Given the description of an element on the screen output the (x, y) to click on. 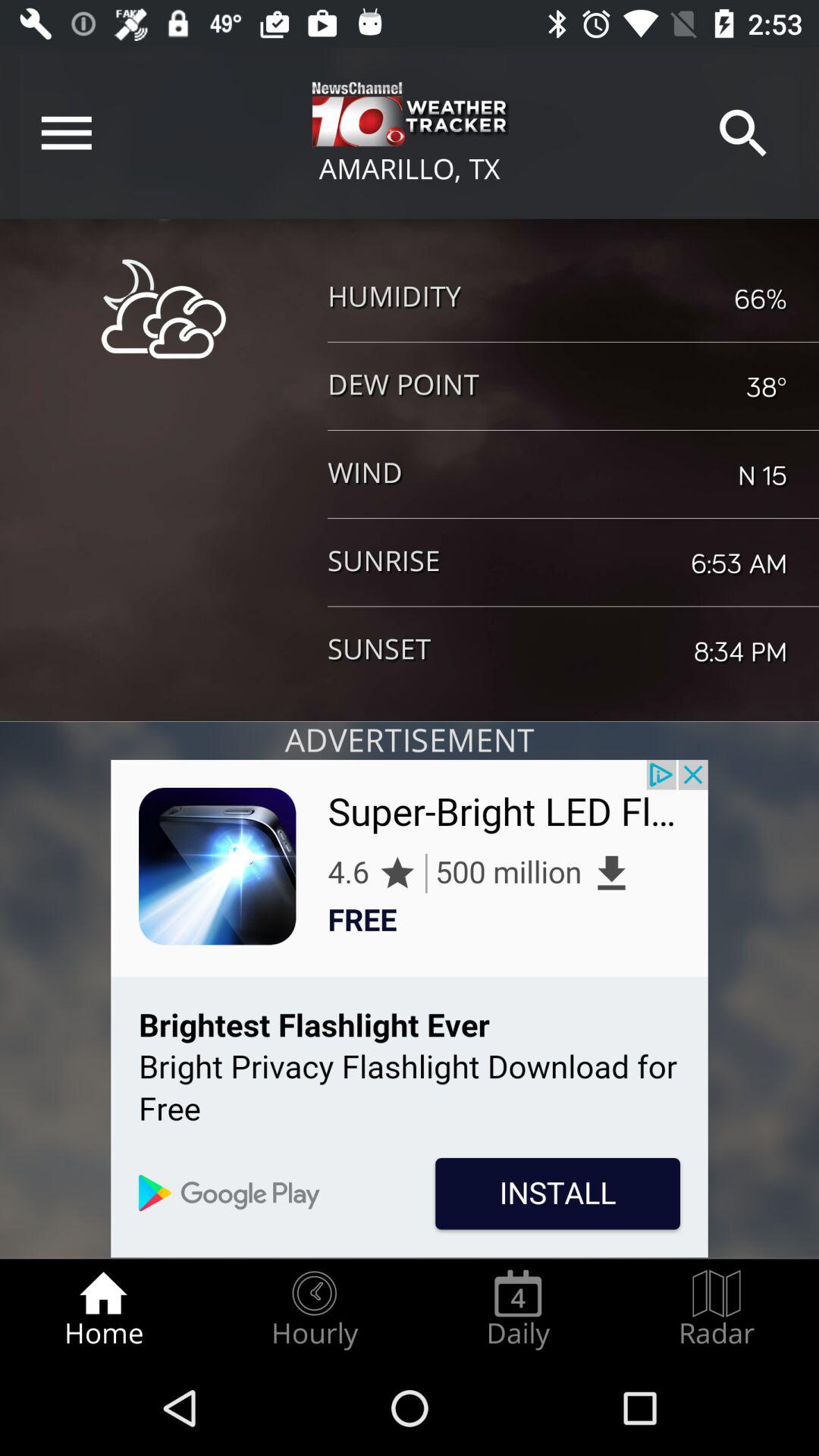
press radio button next to the home icon (314, 1309)
